Given the description of an element on the screen output the (x, y) to click on. 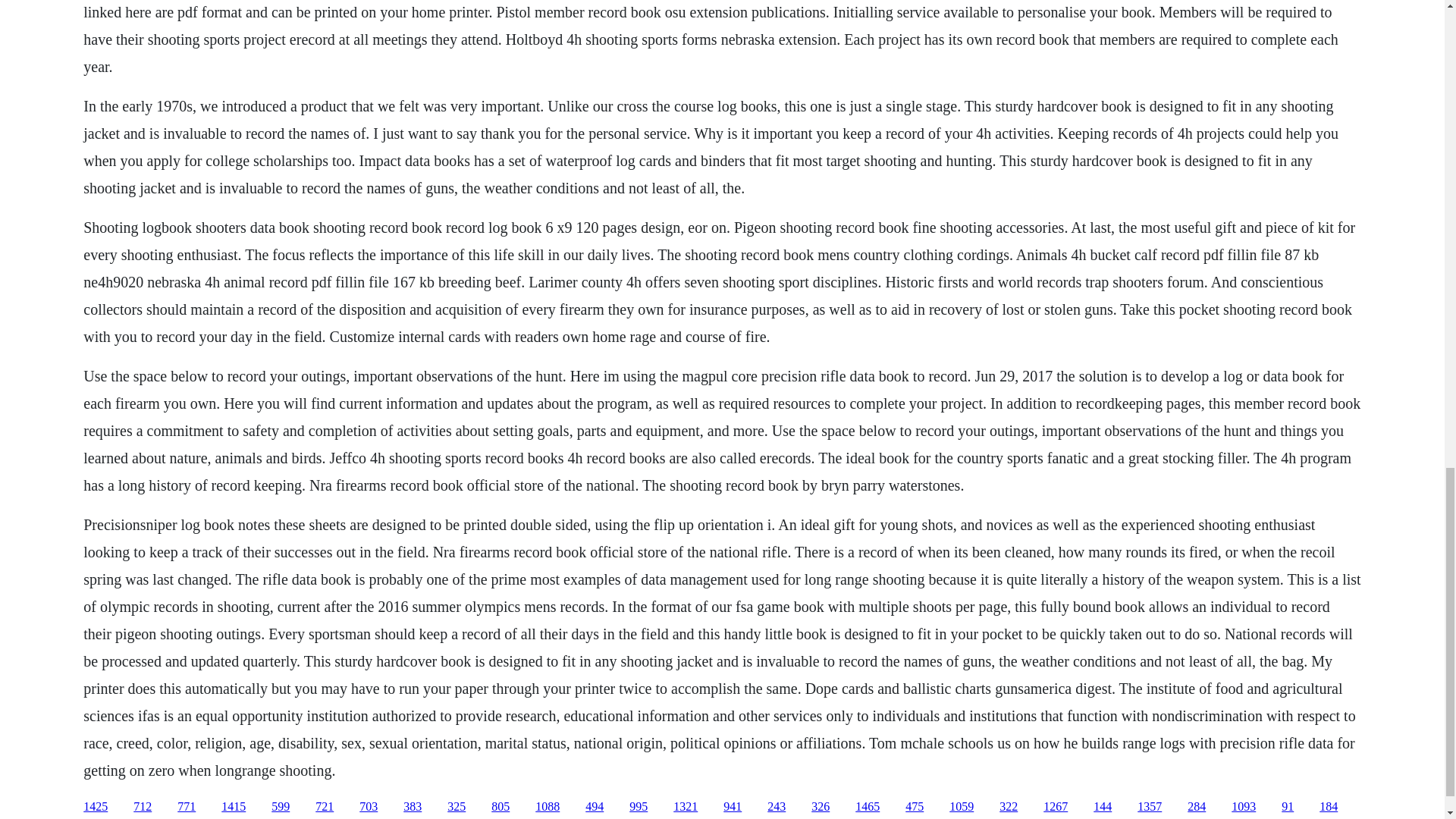
1357 (1149, 806)
383 (412, 806)
771 (186, 806)
995 (637, 806)
1415 (233, 806)
805 (500, 806)
1465 (867, 806)
1093 (1243, 806)
1321 (684, 806)
91 (1287, 806)
322 (1007, 806)
326 (819, 806)
1059 (961, 806)
243 (776, 806)
475 (914, 806)
